Given the description of an element on the screen output the (x, y) to click on. 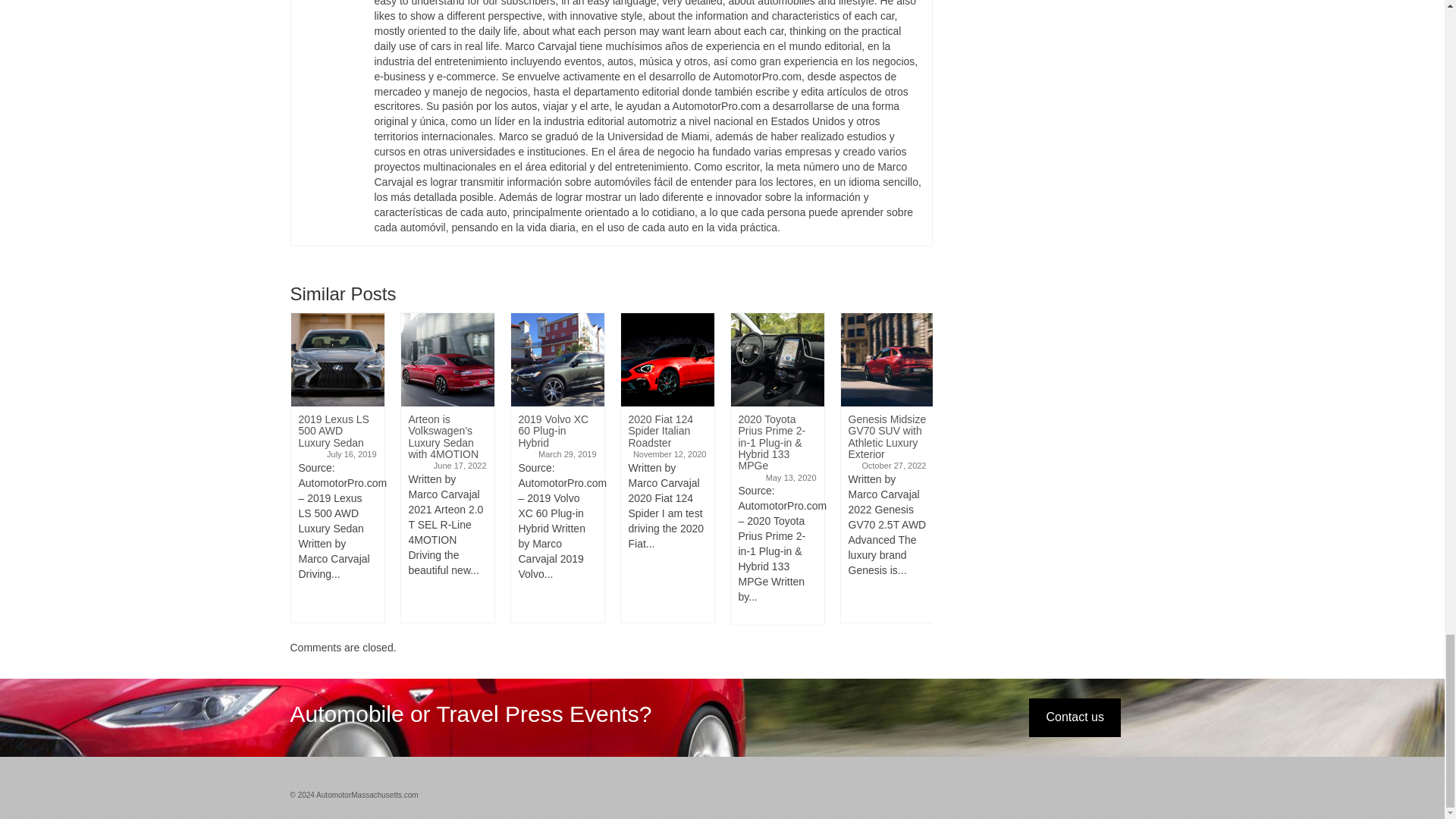
2020 Fiat 124 Spider Italian Roadster (666, 359)
2019 Volvo XC 60 Plug-in Hybrid (557, 359)
2019 Lexus LS 500 AWD Luxury Sedan (337, 359)
